Given the description of an element on the screen output the (x, y) to click on. 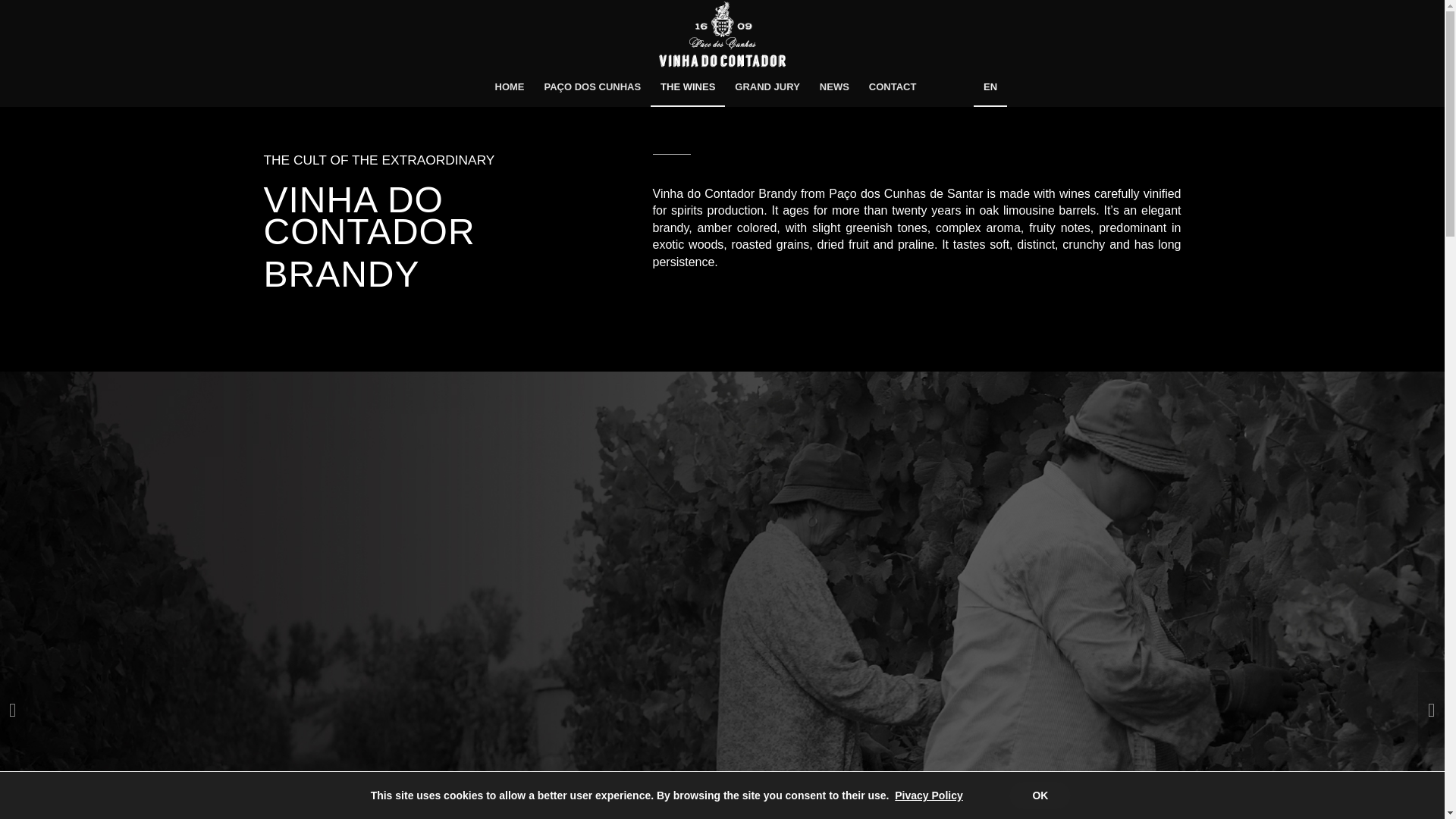
NEWS (834, 86)
HOME (509, 86)
GRAND JURY (767, 86)
THE WINES (687, 86)
CONTACT (892, 86)
